Given the description of an element on the screen output the (x, y) to click on. 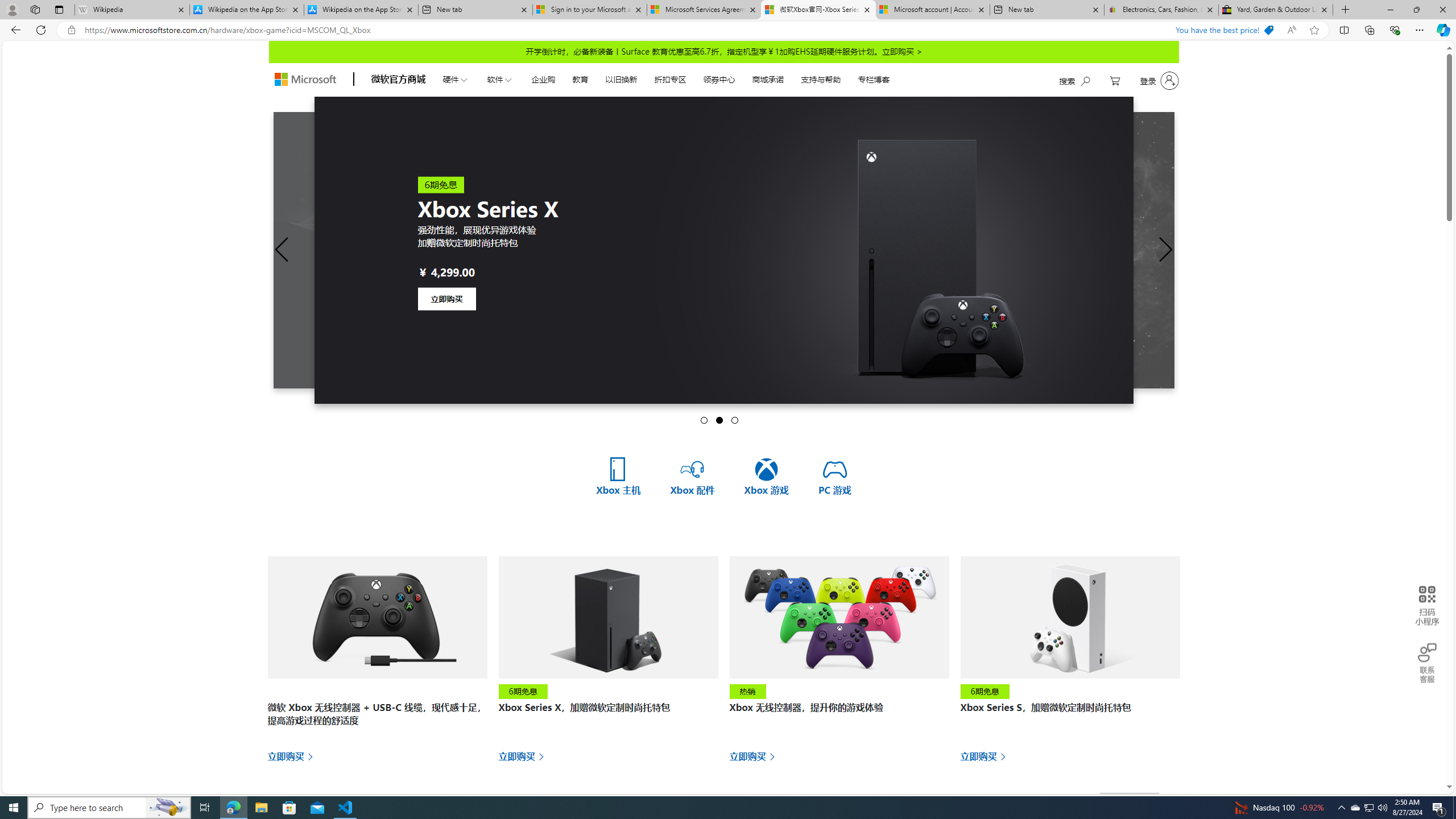
Go to slide 3 (734, 419)
Yard, Garden & Outdoor Living (1276, 9)
Wikipedia - Sleeping (132, 9)
Microsoft Services Agreement (703, 9)
My Cart (1115, 80)
Microsoft account | Account Checkup (932, 9)
Set Descending Direction (1167, 800)
